Given the description of an element on the screen output the (x, y) to click on. 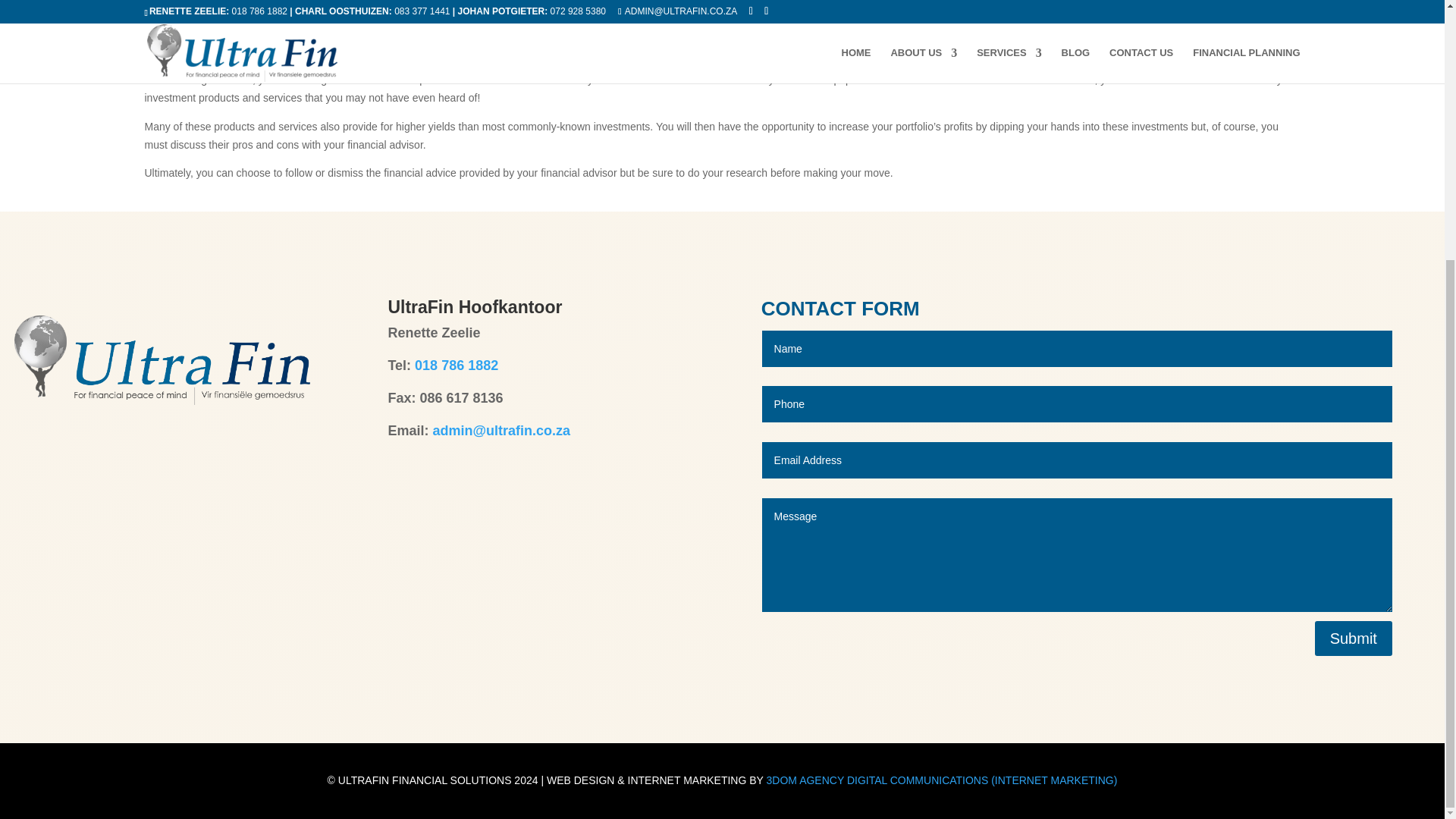
Only numbers allowed.Maximum length: 20 characters. (1076, 403)
Ultrafin Logo Large Scale Transparent (162, 359)
018 786 1882 (455, 365)
Submit (1352, 638)
